Given the description of an element on the screen output the (x, y) to click on. 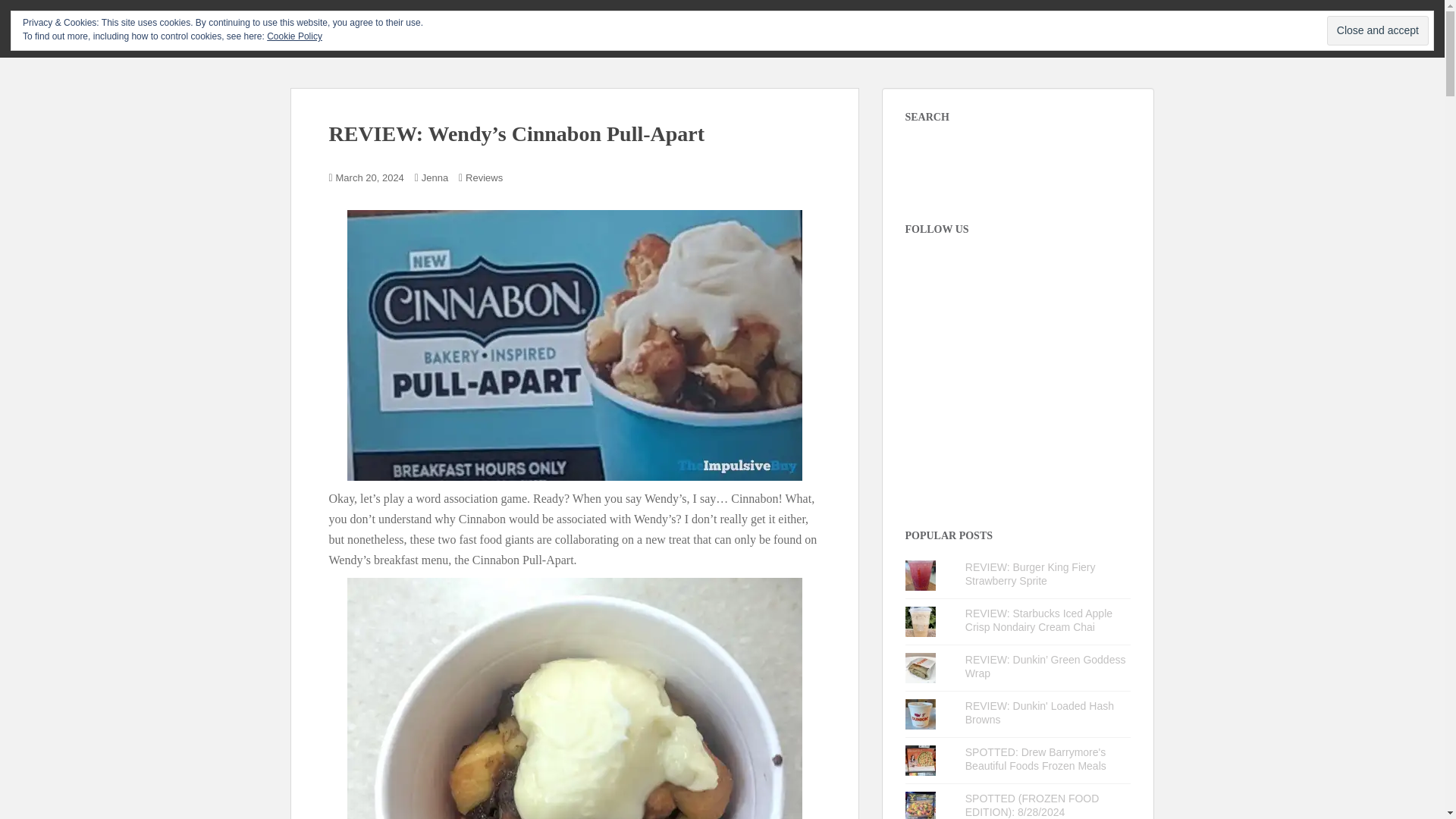
SPOTTED (983, 26)
March 20, 2024 (370, 177)
RECENT REVIEWS (788, 26)
Jenna (435, 177)
Reviews (483, 177)
SEARCH (1113, 26)
REVIEW: Burger King Fiery Strawberry Sprite (1030, 574)
ARCHIVES (1050, 26)
FAST FOOD REVIEWS (896, 26)
Close and accept (1377, 30)
